Given the description of an element on the screen output the (x, y) to click on. 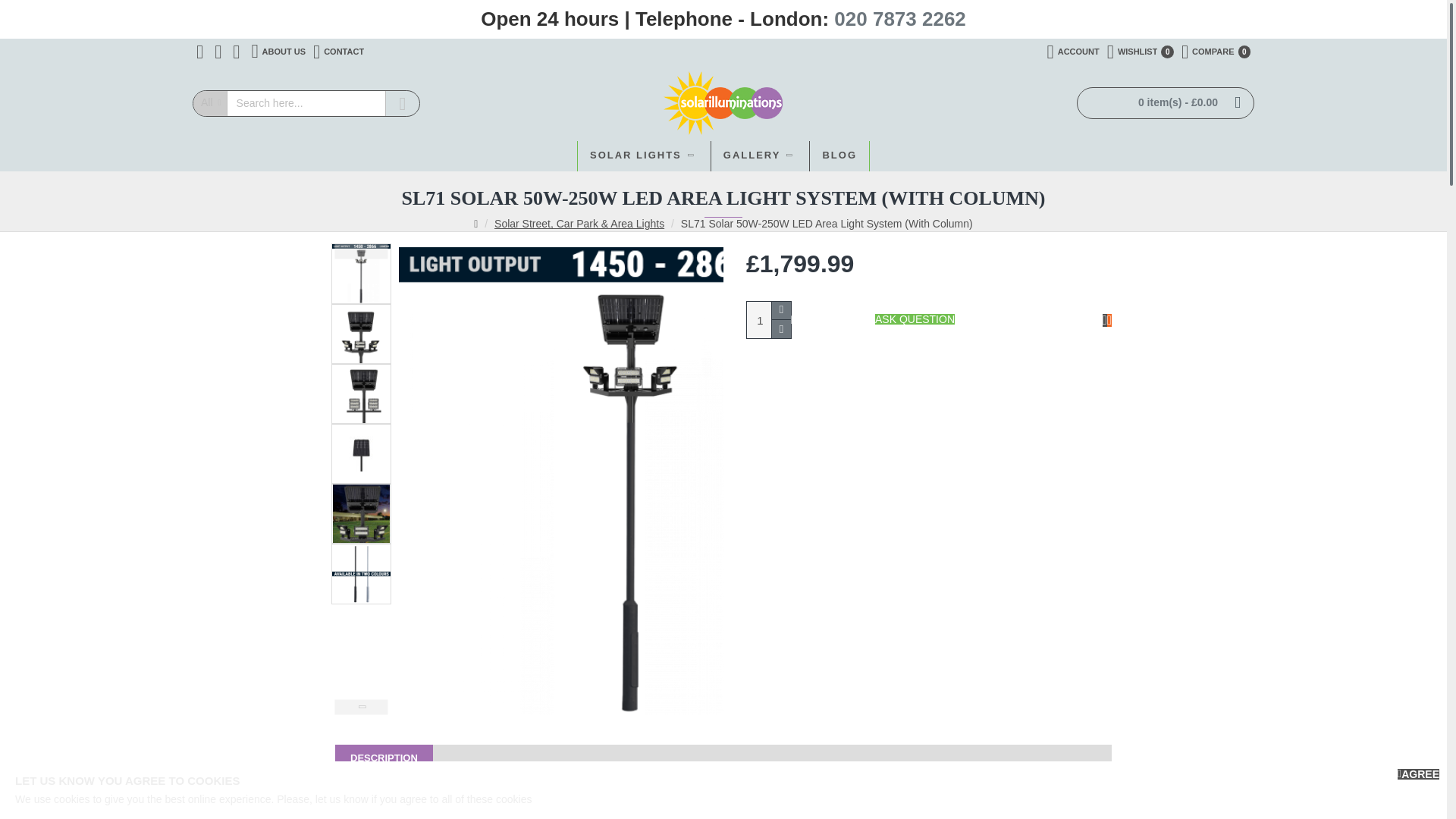
SOLAR LIGHTS (644, 155)
ACCOUNT (1140, 51)
020 7873 2262 (1073, 51)
ABOUT US (1215, 51)
GALLERY (900, 18)
CONTACT (277, 51)
Solar Illuminations (759, 155)
1 (338, 51)
